Given the description of an element on the screen output the (x, y) to click on. 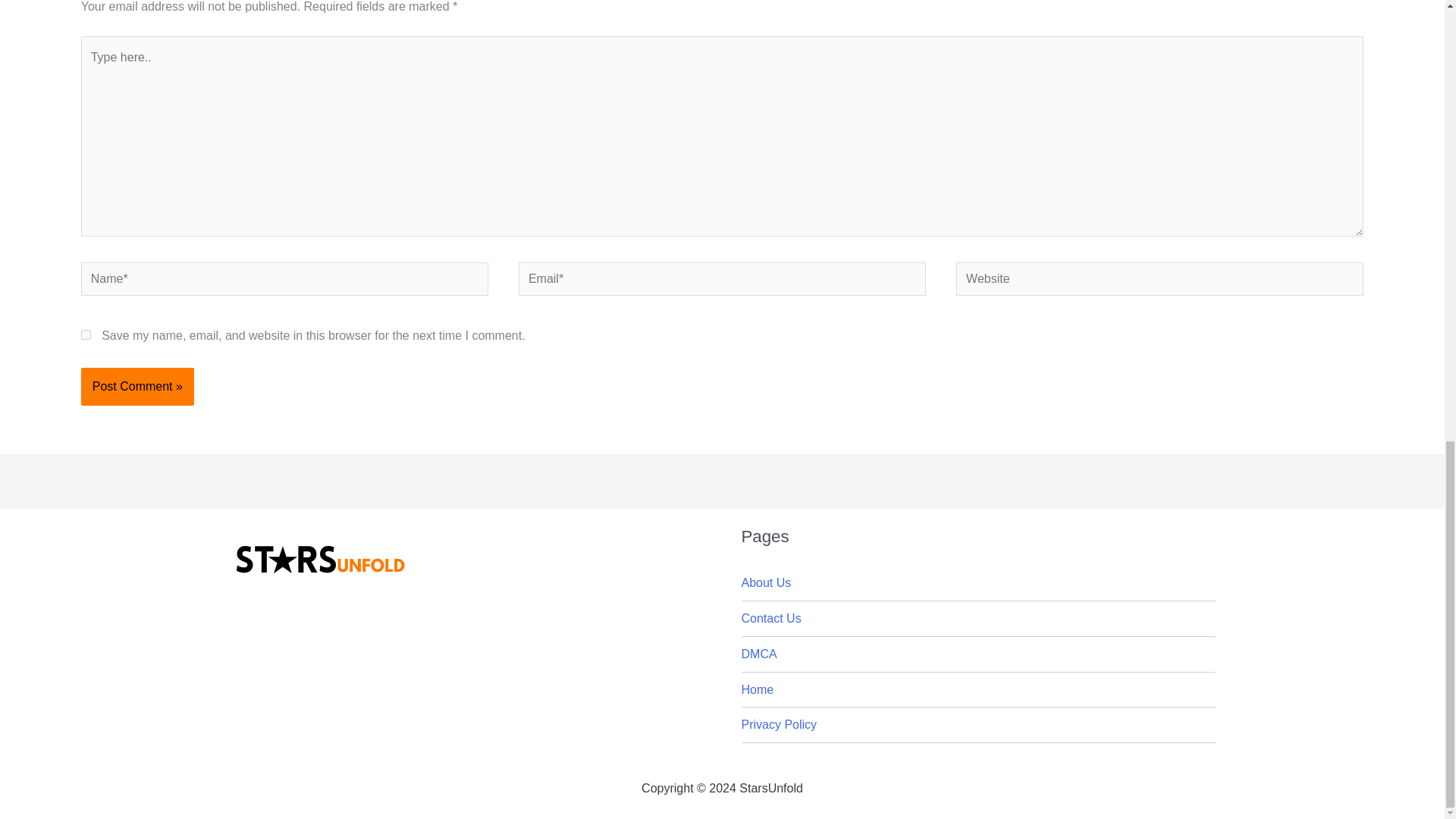
yes (85, 334)
Privacy Policy (778, 724)
About Us (766, 582)
Home (757, 689)
Contact Us (771, 617)
DMCA (759, 653)
